Given the description of an element on the screen output the (x, y) to click on. 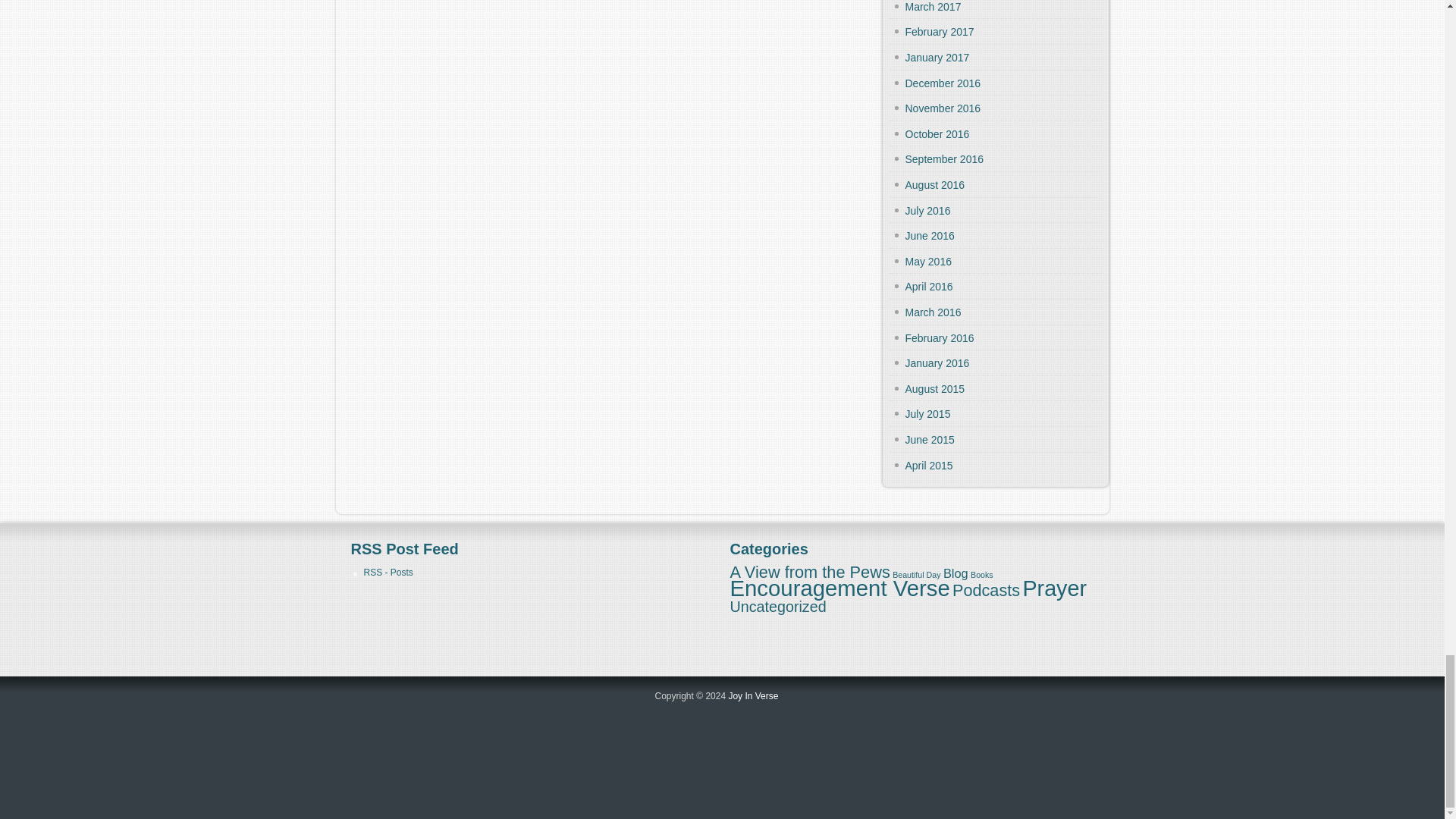
Subscribe to posts (388, 572)
